Given the description of an element on the screen output the (x, y) to click on. 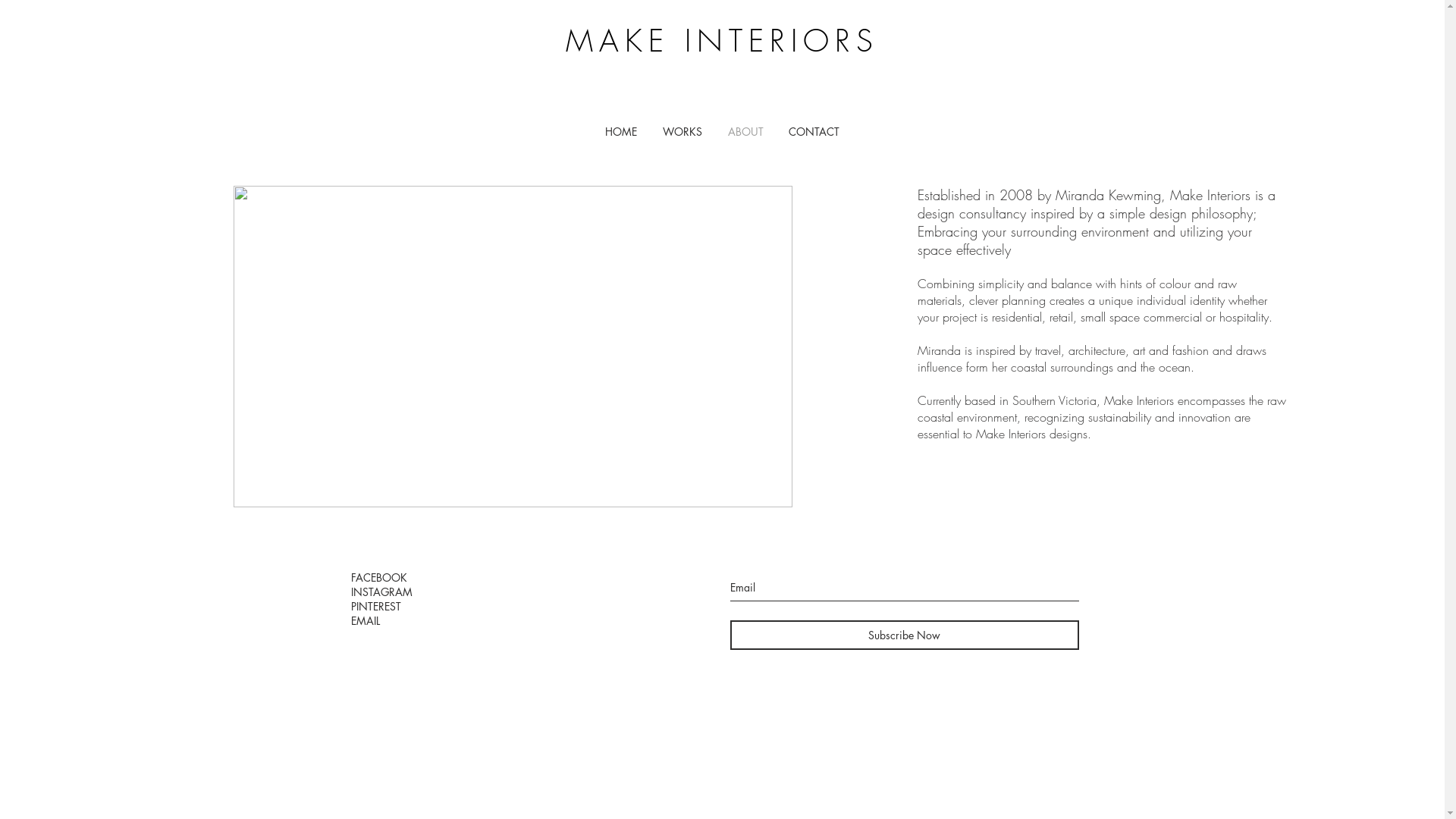
HOME Element type: text (620, 130)
Subscribe Now Element type: text (903, 634)
FACEBOOK Element type: text (378, 577)
MAKE INTERIORS Element type: text (721, 40)
CONTACT Element type: text (814, 130)
INSTAGRAM Element type: text (380, 591)
WORKS Element type: text (681, 130)
EMAIL Element type: text (364, 620)
PINTEREST Element type: text (375, 606)
ABOUT Element type: text (744, 130)
